Given the description of an element on the screen output the (x, y) to click on. 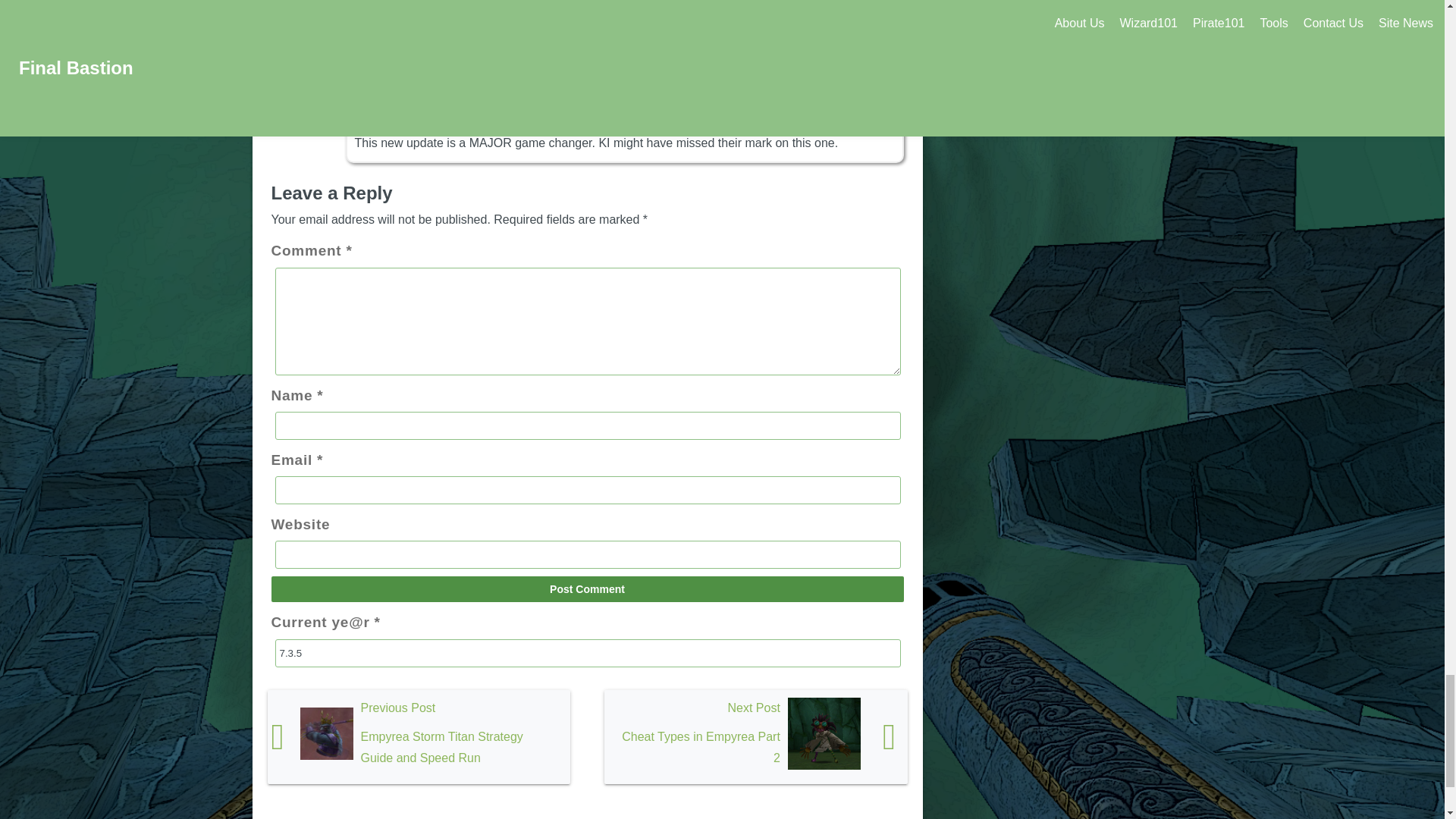
Cheat Types in Empyrea Part 2 (755, 737)
Post Comment (587, 588)
7.3.5 (587, 653)
Empyrea Storm Titan Strategy Guide and Speed Run (418, 737)
